Given the description of an element on the screen output the (x, y) to click on. 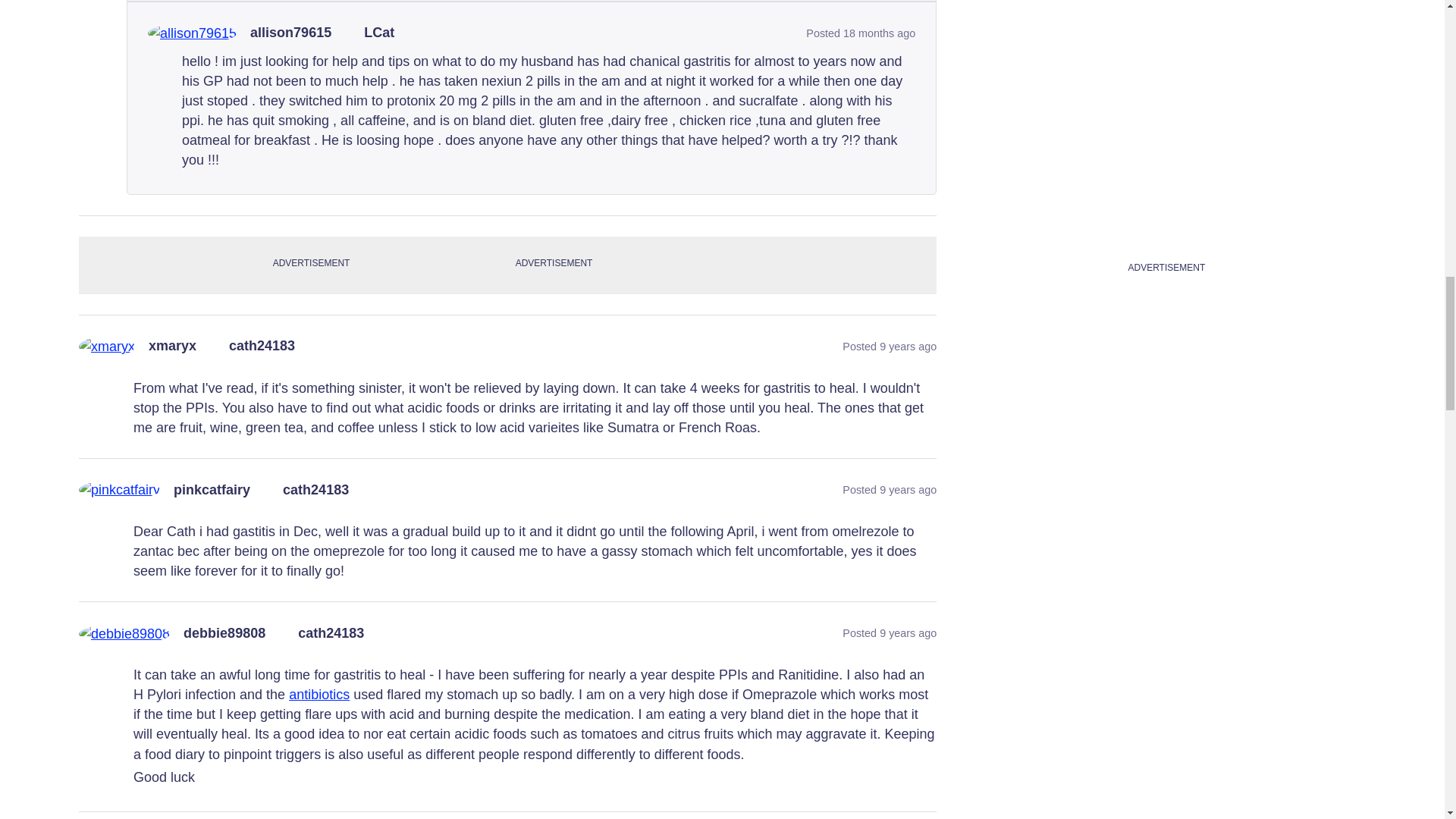
antibiotics (318, 694)
xmaryx (172, 346)
allison79615 (290, 33)
View pinkcatfairy's profile (211, 490)
cath24183 (261, 346)
pinkcatfairy (211, 490)
View debbie89808's profile (223, 633)
cath24183 (315, 490)
View allison79615's profile (290, 33)
debbie89808 (223, 633)
LCat (379, 33)
View xmaryx's profile (172, 346)
cath24183 (331, 633)
